Given the description of an element on the screen output the (x, y) to click on. 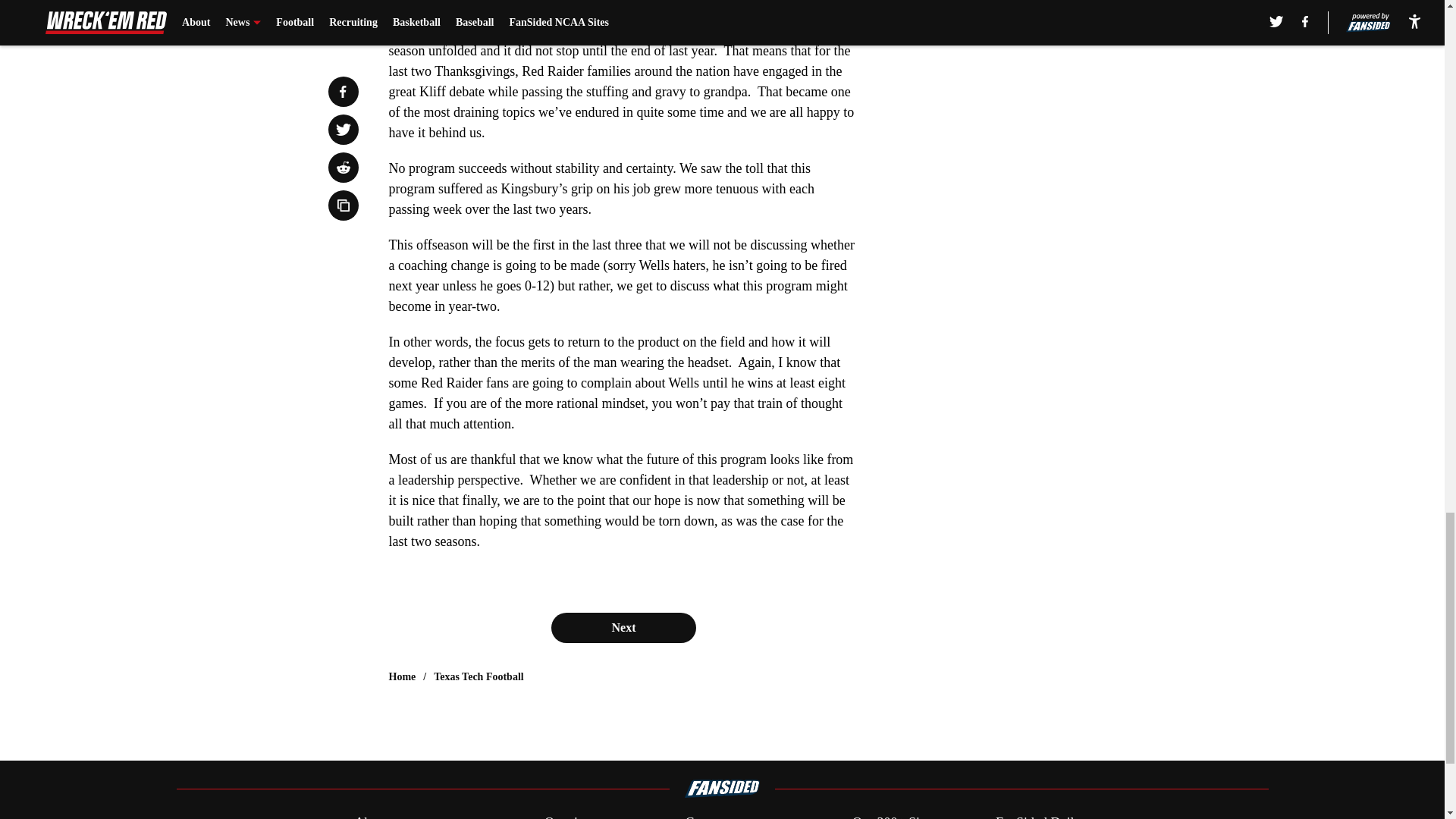
FanSided Daily (1038, 816)
About (370, 816)
Home (401, 676)
Next (622, 627)
Texas Tech Football (478, 676)
Openings (570, 816)
Contact (705, 816)
